Given the description of an element on the screen output the (x, y) to click on. 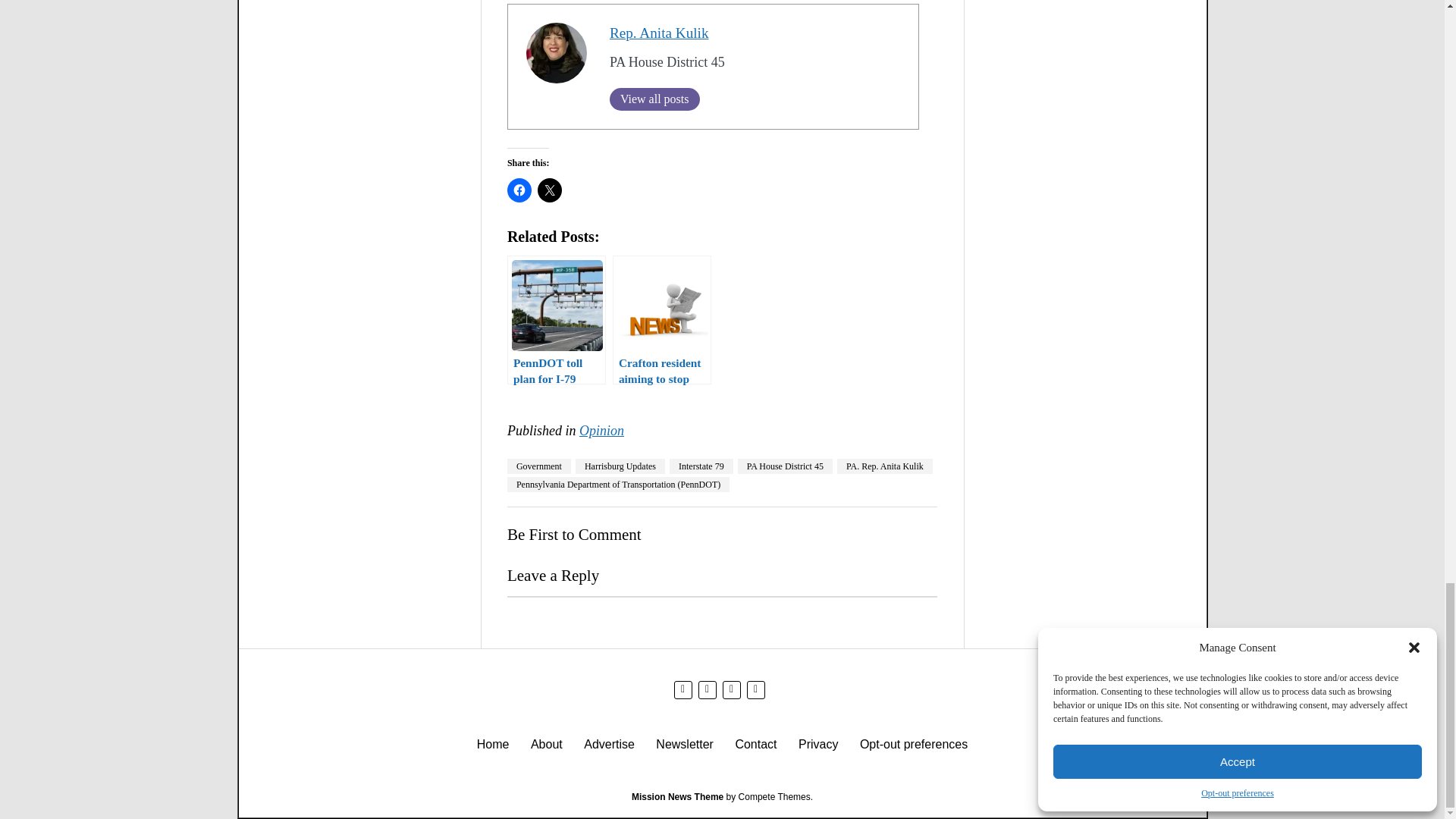
View all posts (655, 98)
View all posts in Opinion (601, 430)
Rep. Anita Kulik (659, 32)
View all posts tagged Government (538, 466)
Click to share on Facebook (518, 190)
Click to share on X (549, 190)
View all posts (655, 98)
Rep. Anita Kulik (659, 32)
